Given the description of an element on the screen output the (x, y) to click on. 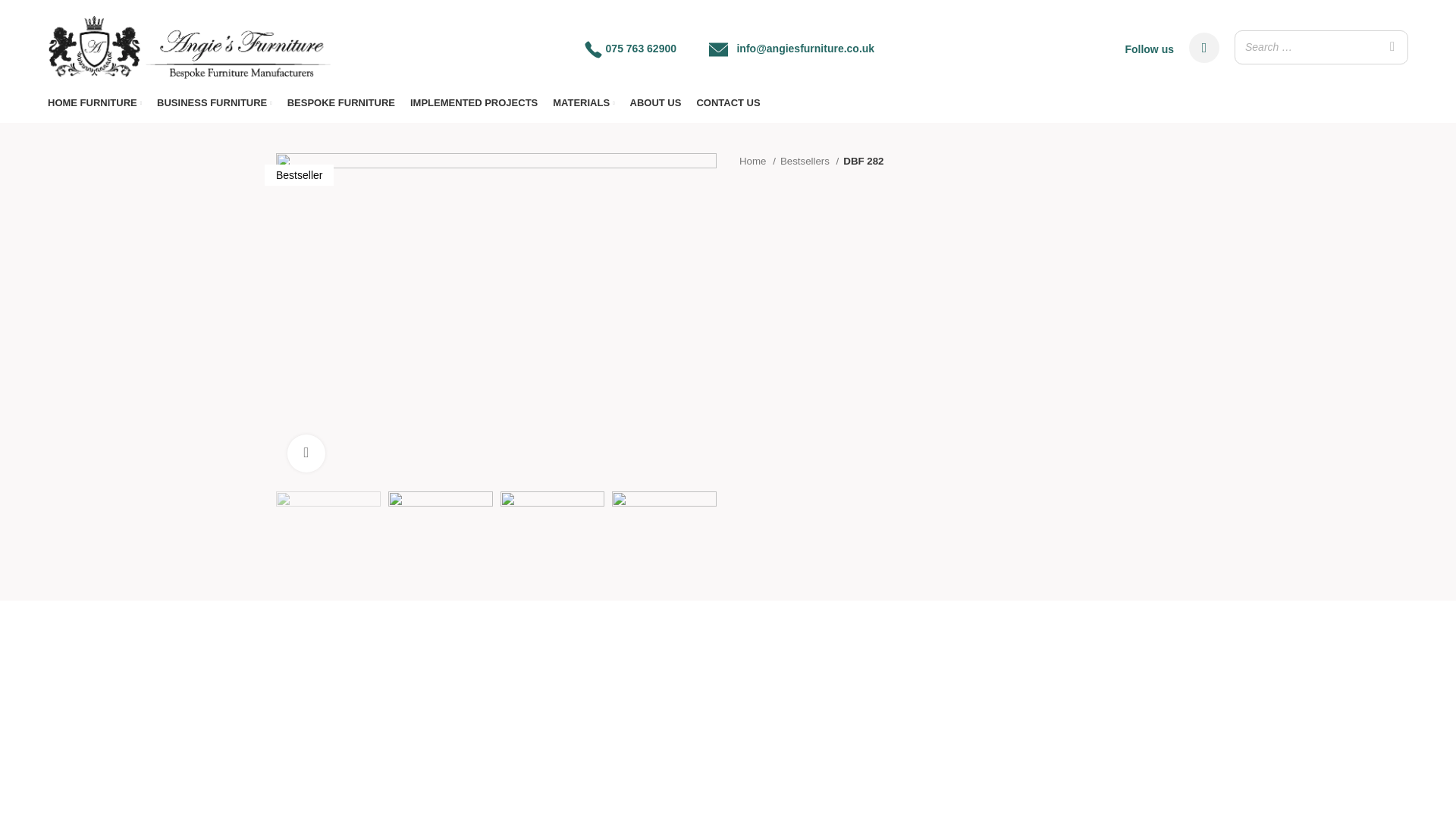
BESPOKE FURNITURE (340, 102)
075 763 62900 (641, 48)
MATERIALS (583, 102)
BUSINESS FURNITURE (214, 102)
HOME FURNITURE (94, 102)
IMPLEMENTED PROJECTS (473, 102)
CONTACT US (727, 102)
ABOUT US (654, 102)
